Given the description of an element on the screen output the (x, y) to click on. 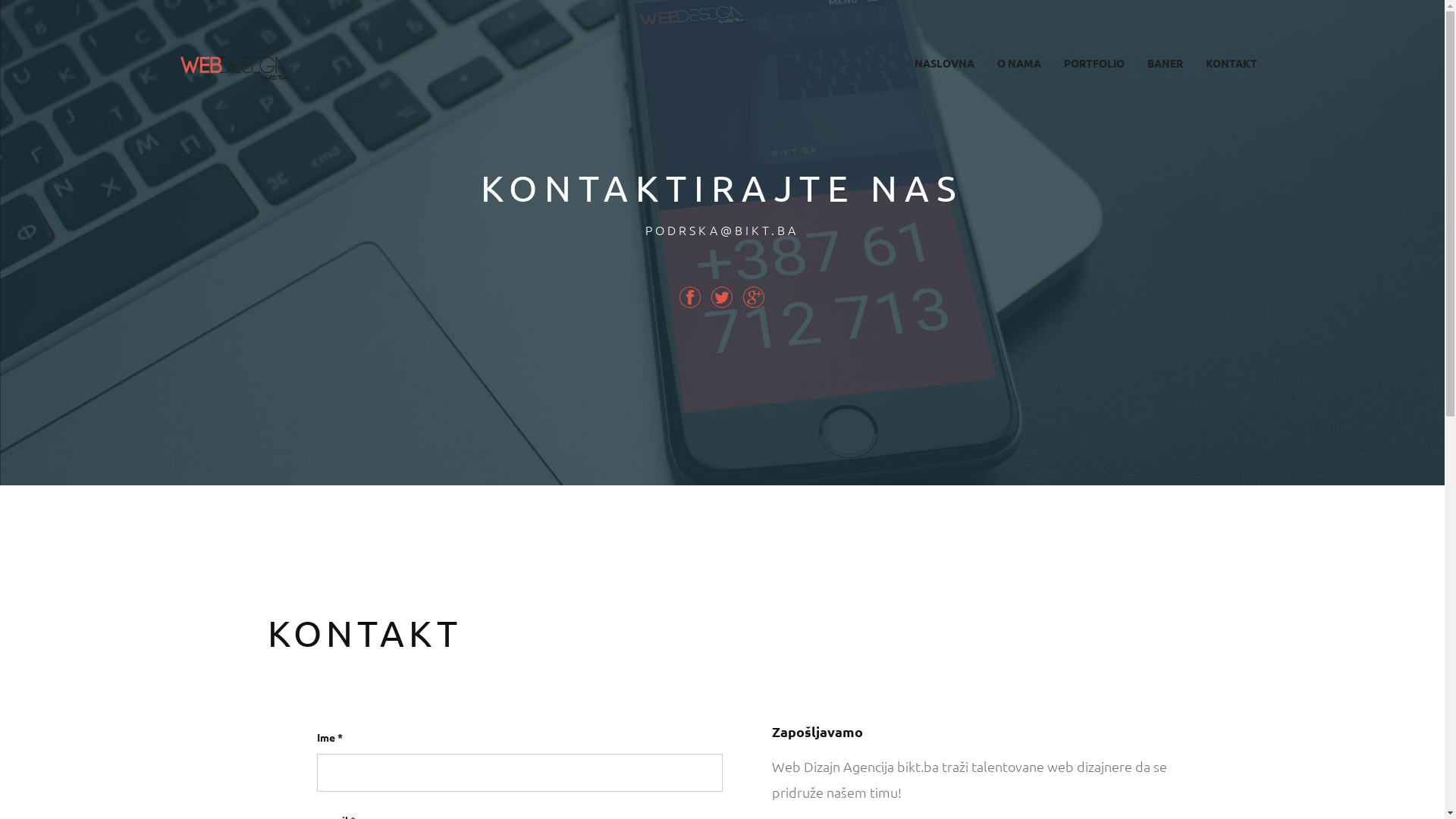
O NAMA Element type: text (1018, 63)
KONTAKT Element type: text (1230, 63)
BANER Element type: text (1164, 63)
PORTFOLIO Element type: text (1093, 63)
NASLOVNA Element type: text (943, 63)
